Given the description of an element on the screen output the (x, y) to click on. 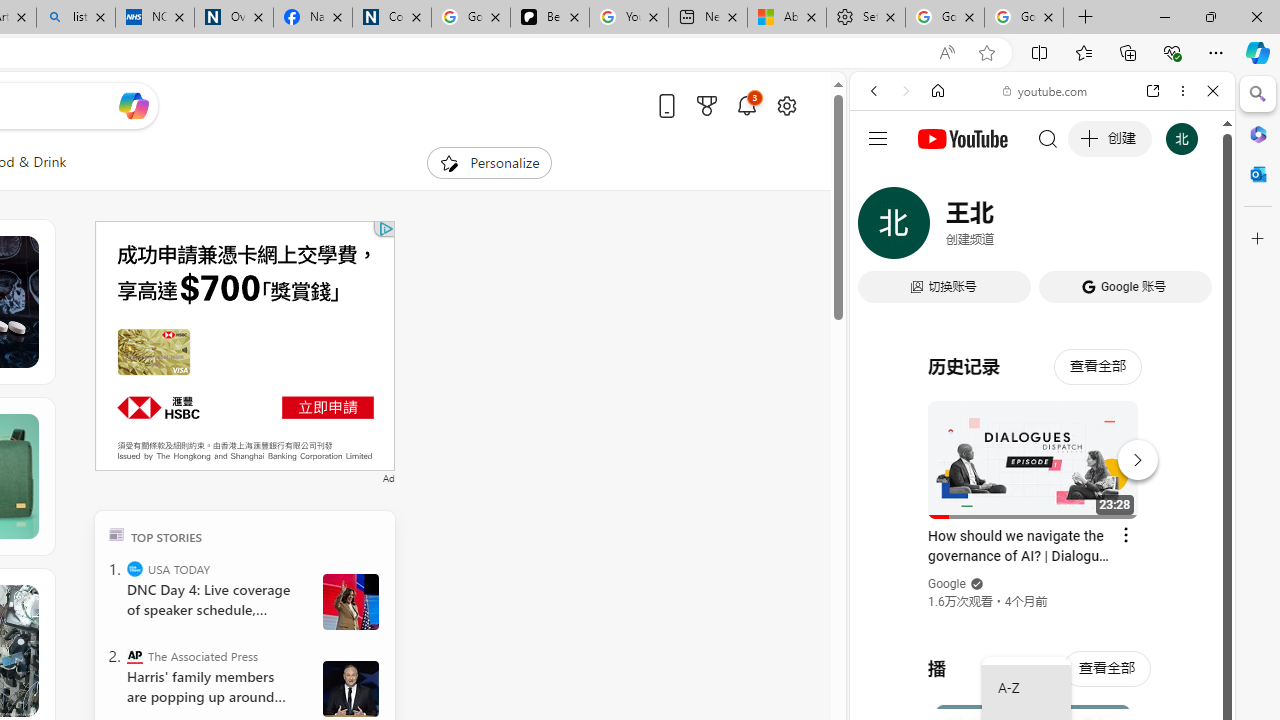
youtube.com (1046, 90)
Cookies (392, 17)
USA TODAY (134, 568)
Web scope (882, 180)
